Given the description of an element on the screen output the (x, y) to click on. 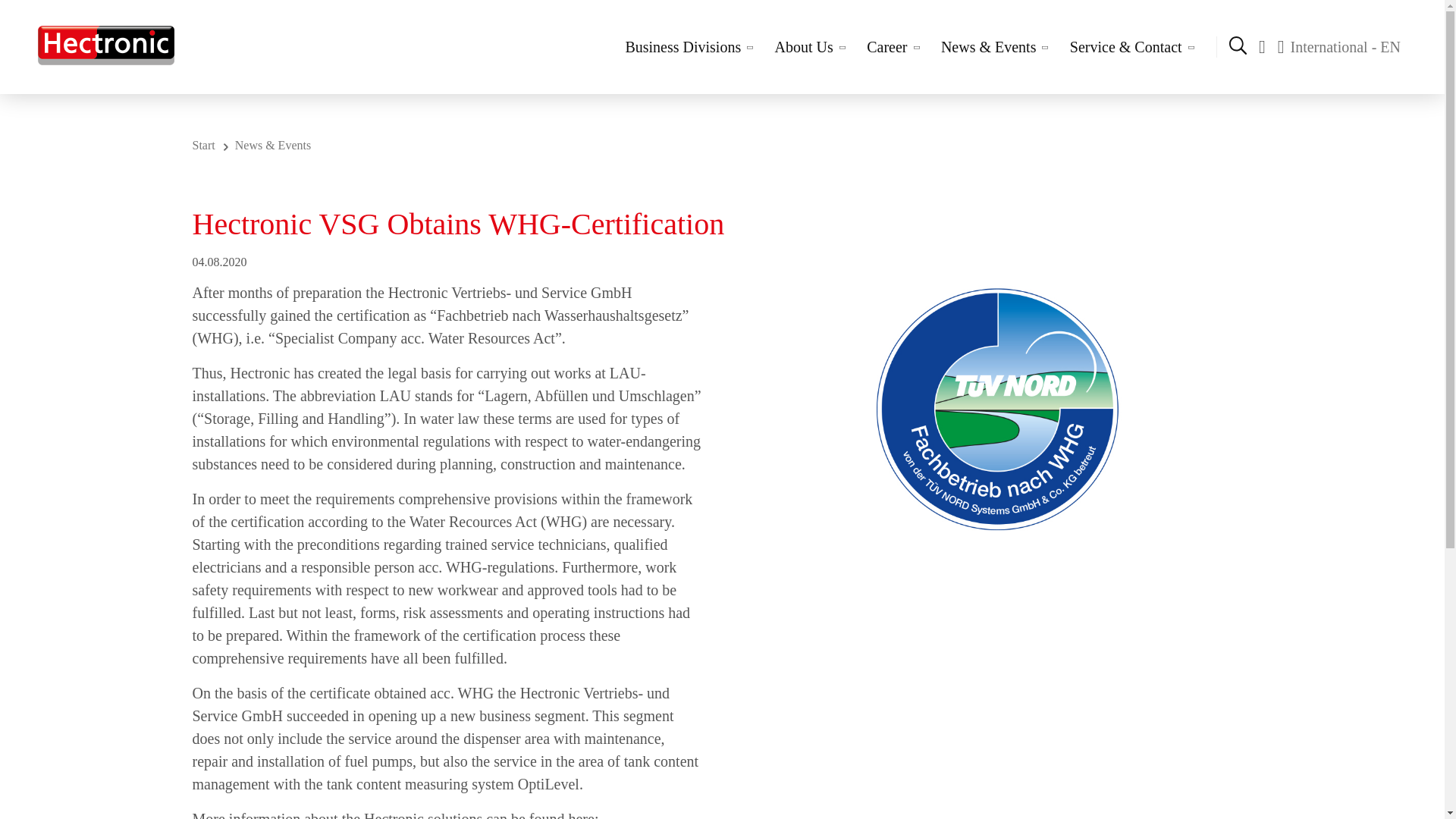
Business Divisions (687, 46)
About Us (809, 46)
Career (893, 46)
